Given the description of an element on the screen output the (x, y) to click on. 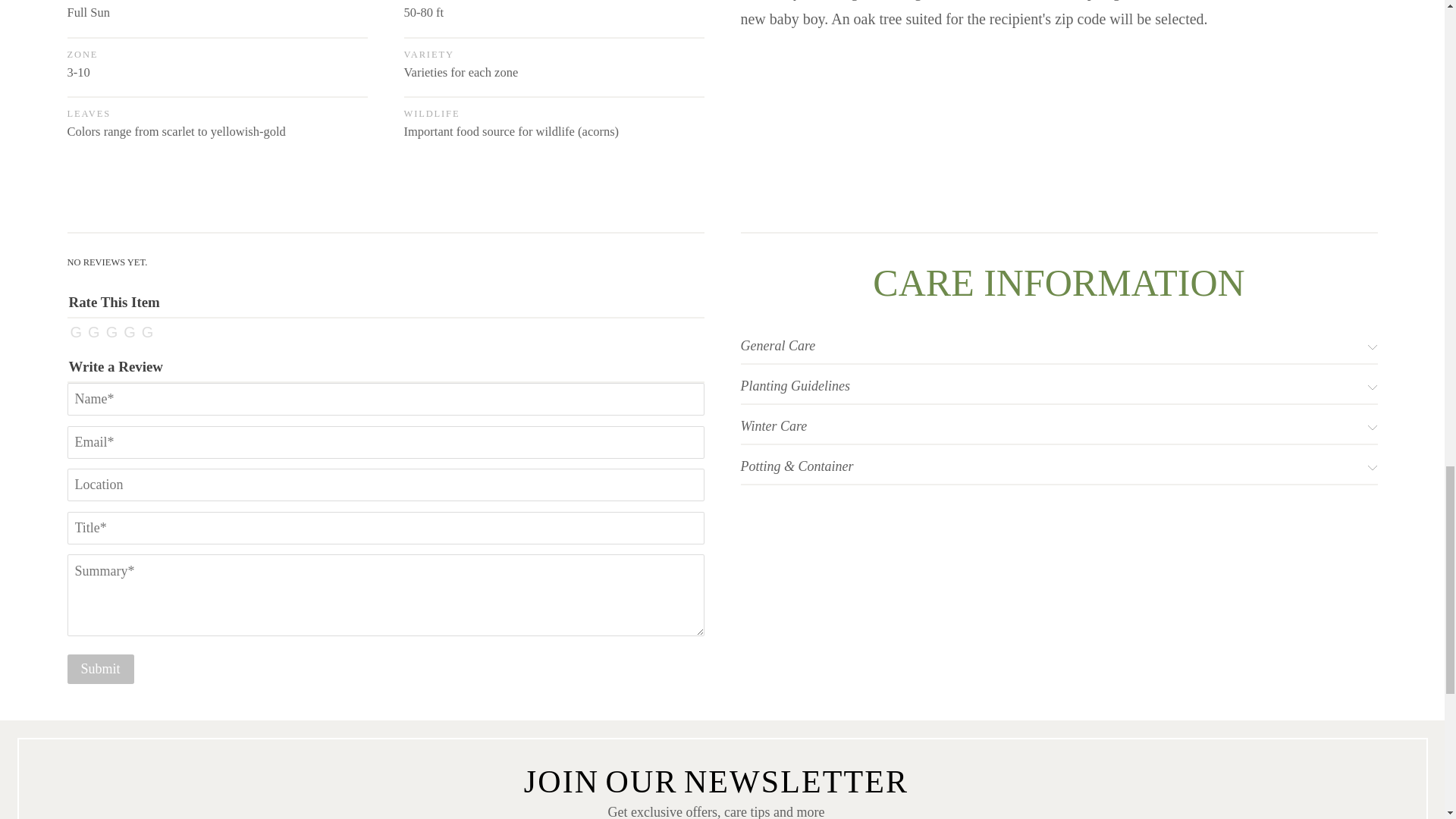
Submit (99, 668)
